Given the description of an element on the screen output the (x, y) to click on. 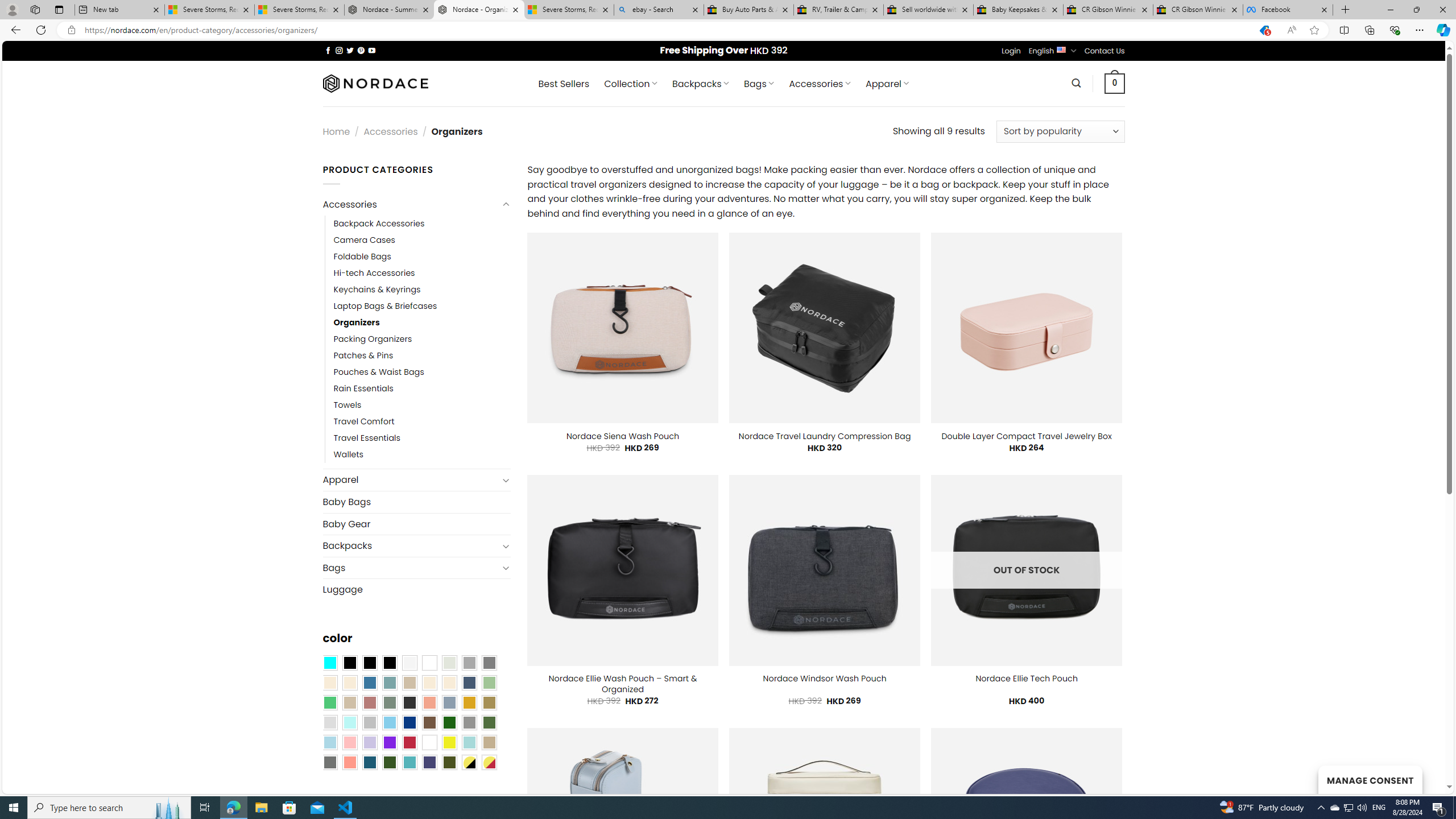
Settings and more (Alt+F) (1419, 29)
Capri Blue (369, 762)
Home (335, 131)
Towels (422, 405)
Follow on Instagram (338, 49)
Minimize (1390, 9)
Keychains & Keyrings (422, 289)
Dark Green (449, 721)
Follow on Twitter (349, 49)
Baby Gear (416, 523)
Ash Gray (449, 662)
Silver (369, 721)
